Given the description of an element on the screen output the (x, y) to click on. 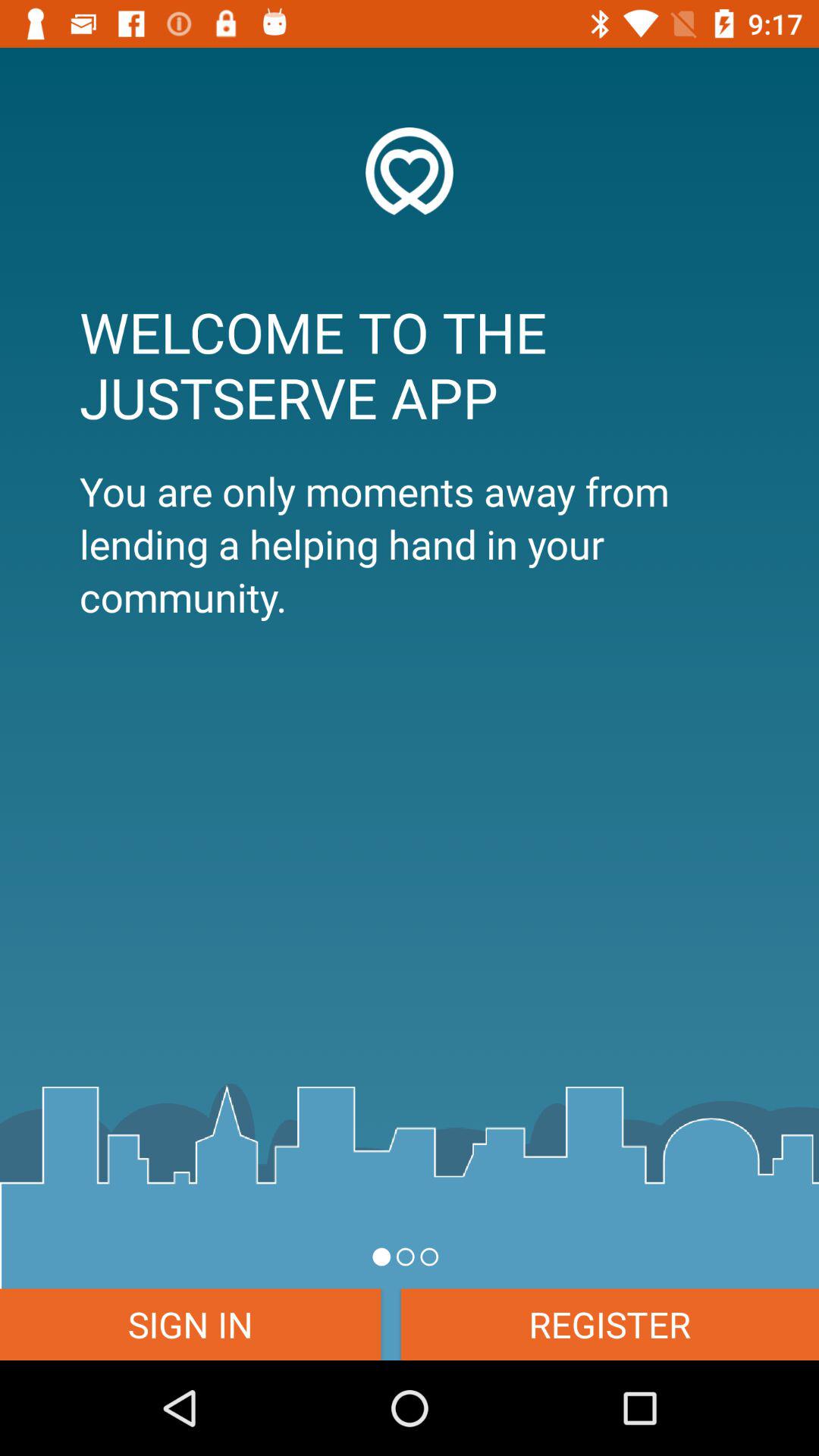
swipe until register icon (609, 1324)
